Given the description of an element on the screen output the (x, y) to click on. 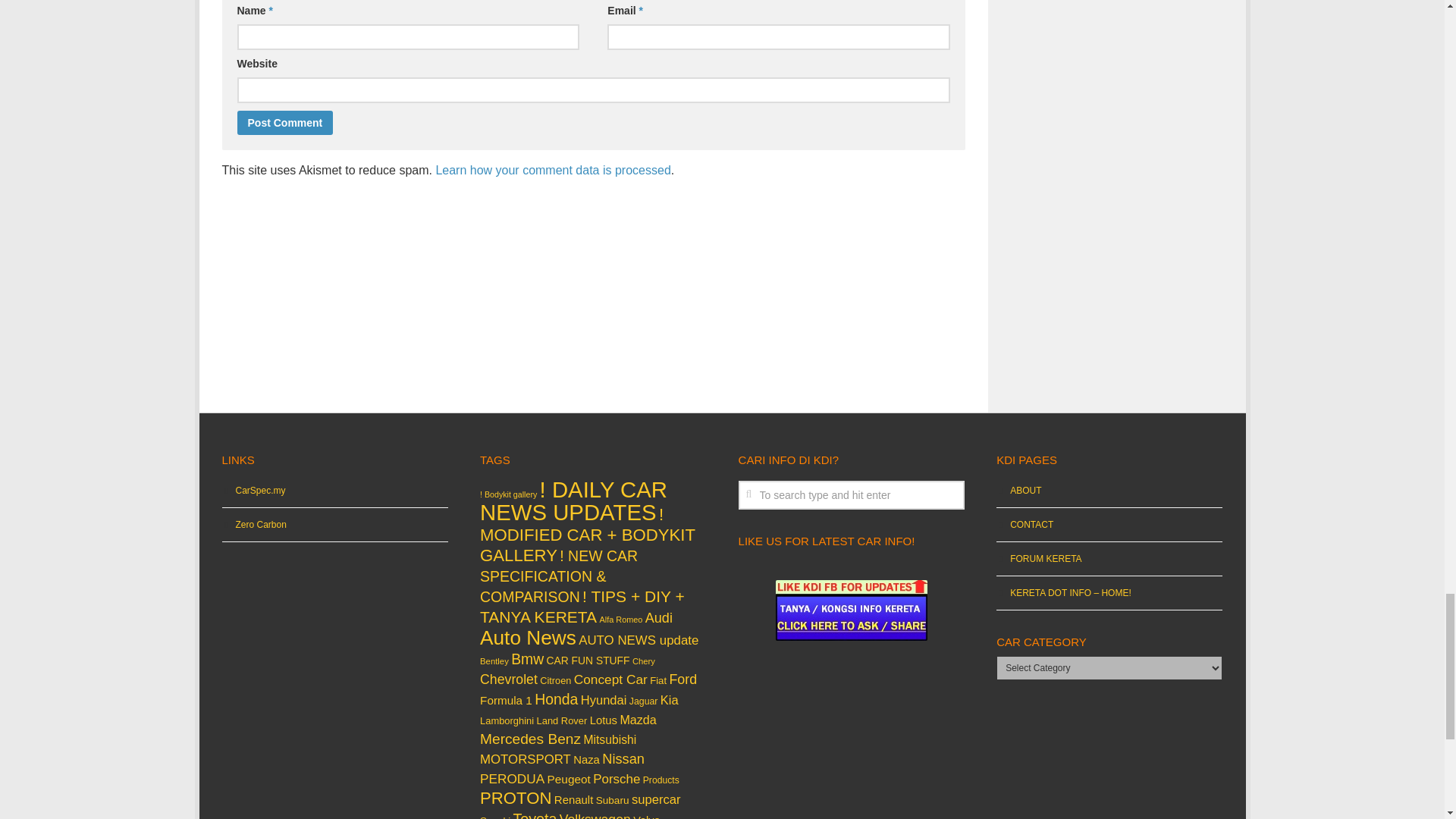
Learn how your comment data is processed (552, 169)
Post Comment (284, 122)
To search type and hit enter (850, 494)
Post Comment (284, 122)
To search type and hit enter (850, 494)
